Given the description of an element on the screen output the (x, y) to click on. 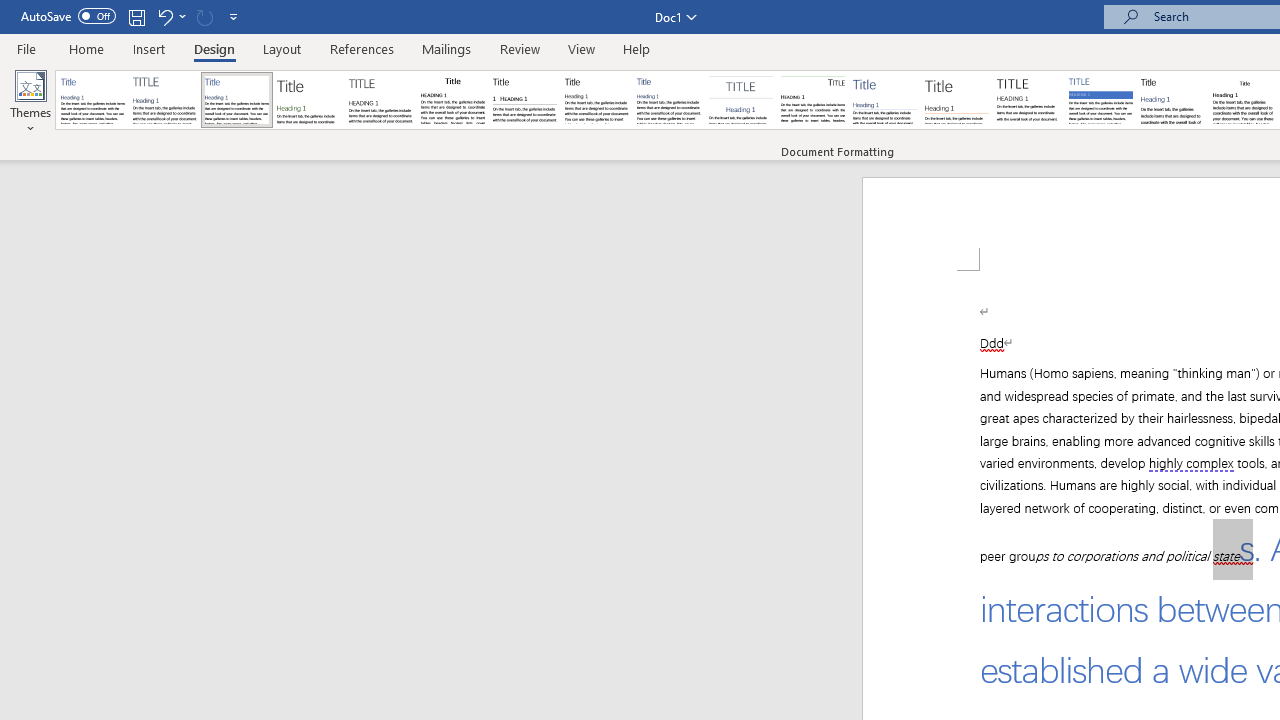
Basic (Stylish) (308, 100)
Basic (Elegant) (164, 100)
Basic (Simple) (236, 100)
Black & White (Word 2013) (596, 100)
Black & White (Classic) (452, 100)
Lines (Simple) (884, 100)
